Given the description of an element on the screen output the (x, y) to click on. 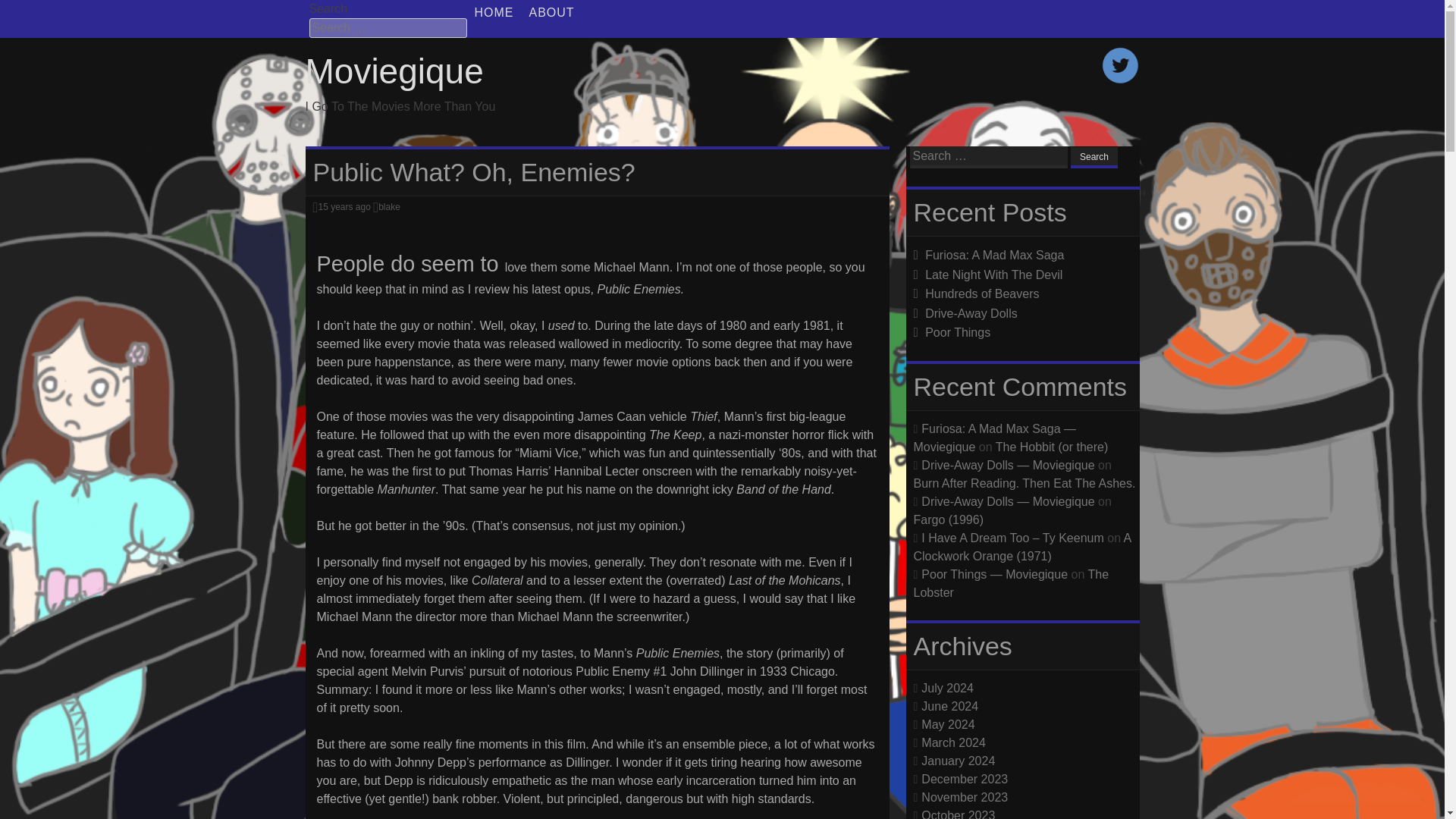
Search for: (387, 27)
Moviegique (393, 70)
Hundreds of Beavers (981, 293)
Furiosa: A Mad Max Saga (994, 254)
blake (389, 206)
Poor Things (957, 332)
June 2024 (949, 705)
Search (1094, 157)
Search for: (988, 157)
Moviegique (393, 70)
HOME (494, 12)
July 2024 (947, 686)
Twitter (1118, 80)
The Lobster (1010, 582)
15 years ago (343, 206)
